Given the description of an element on the screen output the (x, y) to click on. 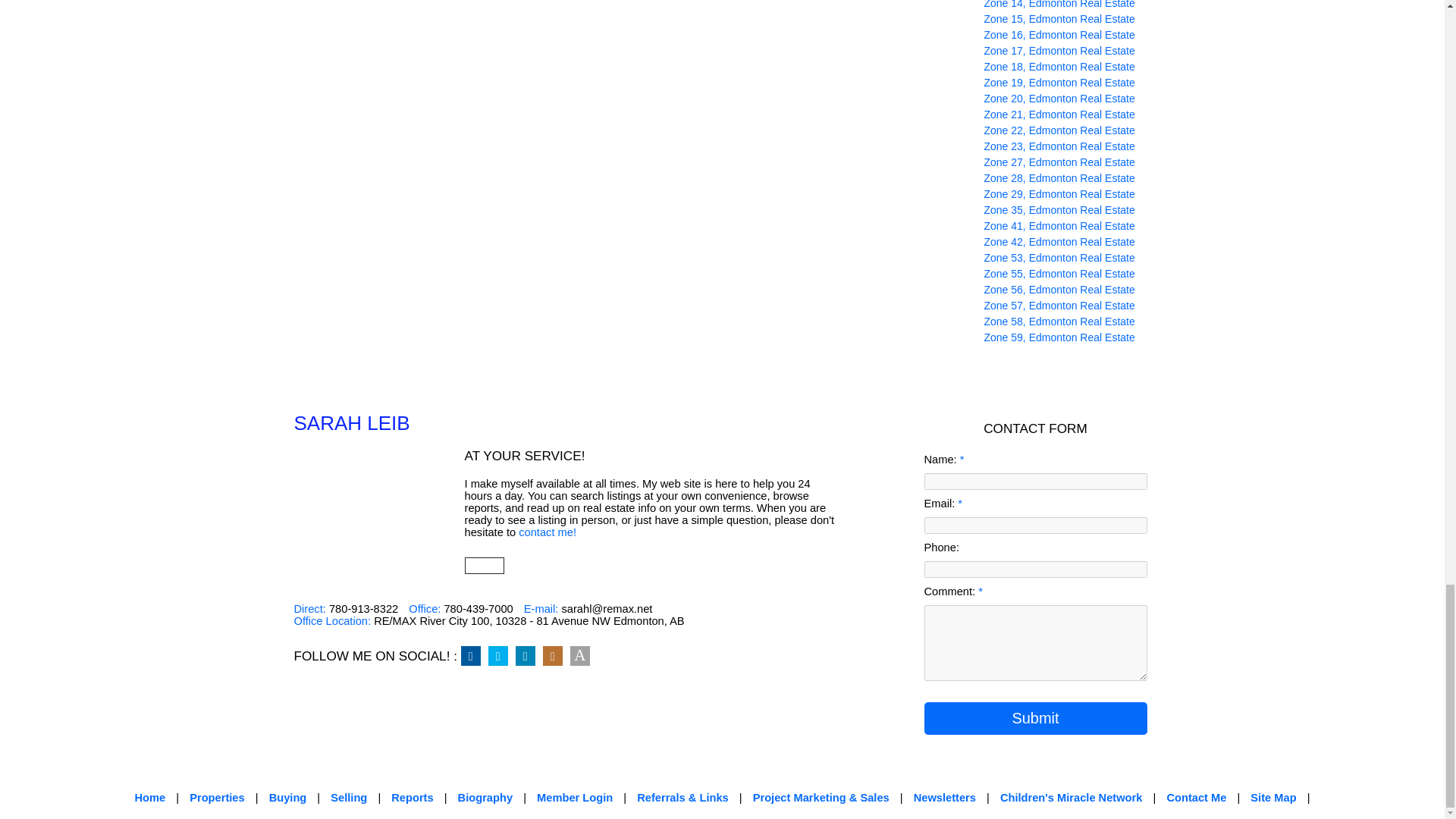
Home (149, 797)
Properties (216, 797)
Buying (288, 797)
Biography (485, 797)
Reports (411, 797)
Selling (348, 797)
Member Login (574, 797)
Contact Me (1195, 797)
Children's Miracle Network (1071, 797)
Site Map (1272, 797)
Newsletters (944, 797)
